Given the description of an element on the screen output the (x, y) to click on. 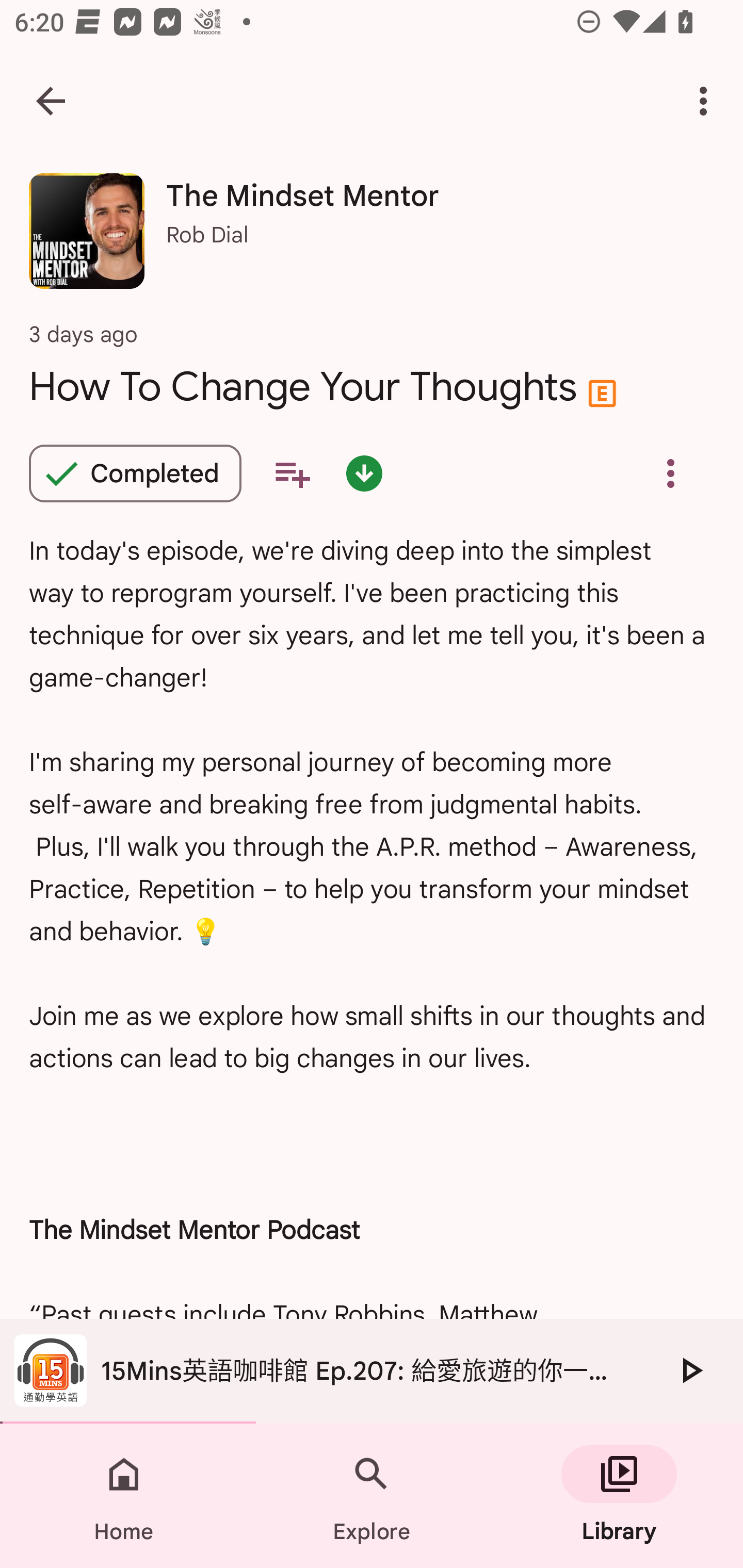
Navigate up (50, 101)
More options (706, 101)
The Mindset Mentor The Mindset Mentor Rob Dial (371, 238)
Play episode How To Change Your Thoughts Completed (134, 473)
Add to your queue (291, 473)
Episode downloaded - double tap for options (364, 473)
Overflow menu (670, 473)
Play (690, 1370)
Home (123, 1495)
Explore (371, 1495)
